Given the description of an element on the screen output the (x, y) to click on. 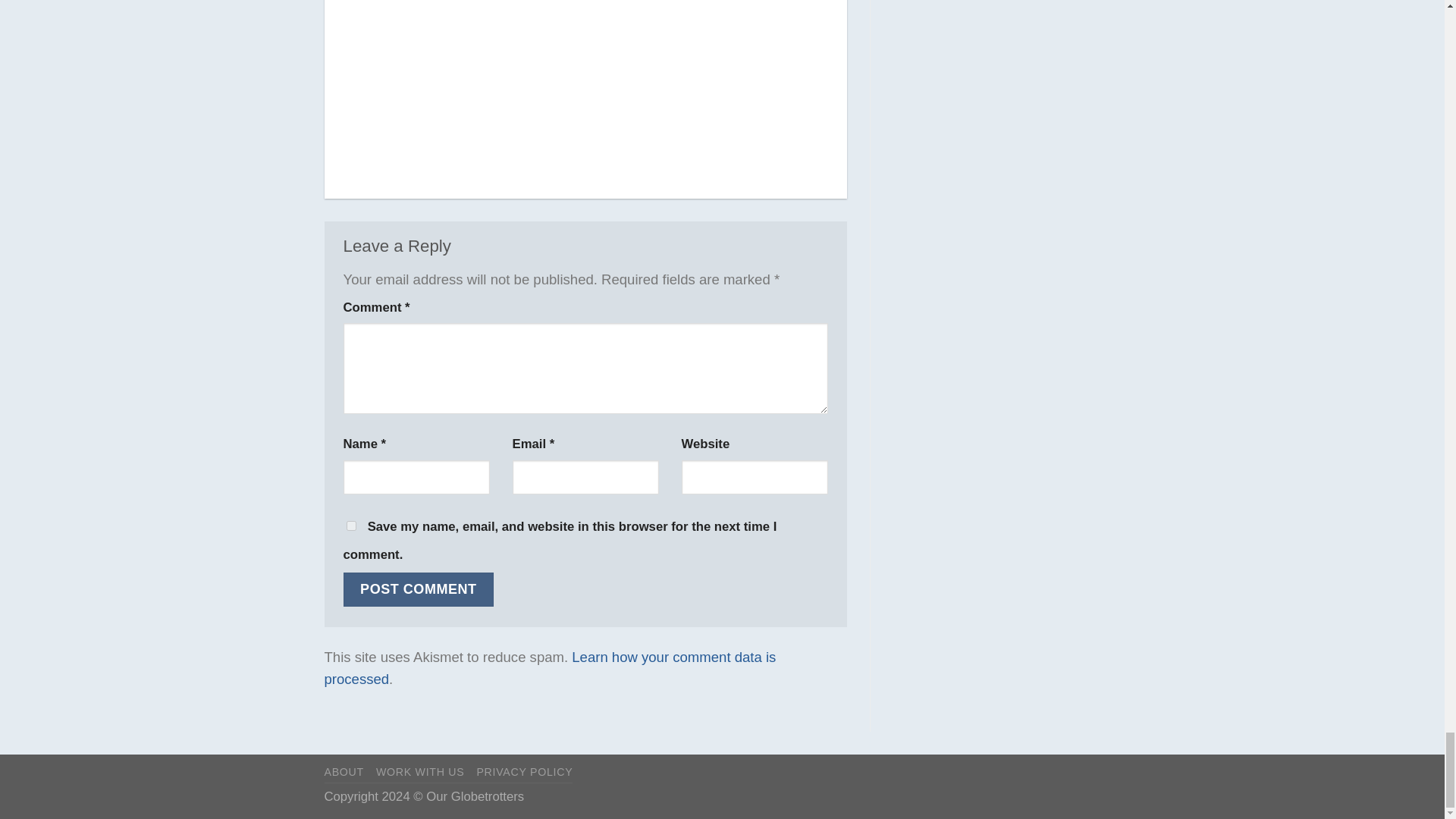
yes (350, 525)
Post Comment (417, 589)
